Given the description of an element on the screen output the (x, y) to click on. 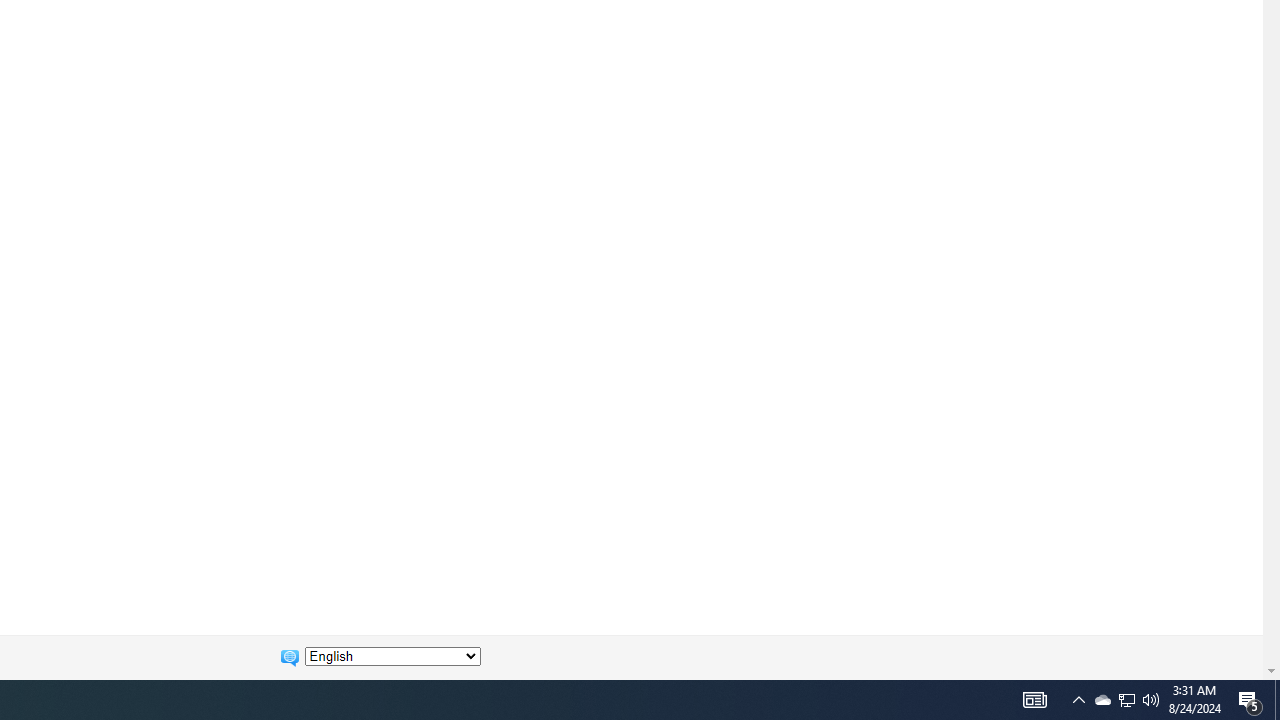
Change language: (392, 656)
